Given the description of an element on the screen output the (x, y) to click on. 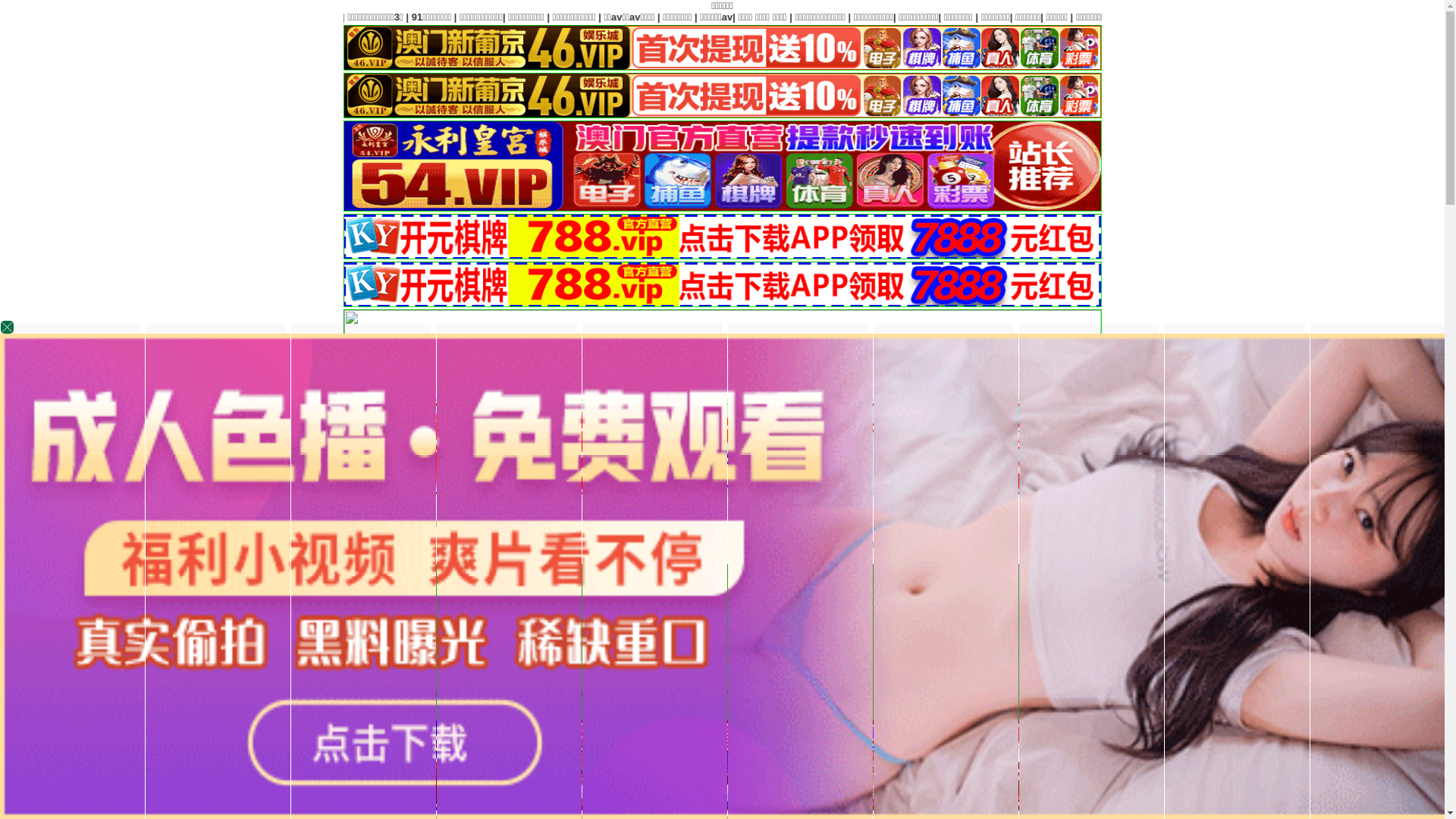
| Element type: text (1049, 16)
www.hehui888.com Element type: text (1144, 523)
| Element type: text (1047, 693)
| Element type: text (1008, 693)
| Element type: text (1323, 16)
| Element type: text (1215, 16)
www.i0534.com Element type: text (870, 523)
| Element type: text (898, 693)
| Element type: text (1370, 16)
www.swszl.com Element type: text (956, 523)
| Element type: text (963, 693)
| Element type: text (1174, 16)
| Element type: text (1089, 16)
| Element type: text (1277, 16)
| Element type: text (1024, 16)
| Element type: text (1087, 693)
| Element type: text (1412, 16)
| Element type: text (923, 693)
www.gxht168.com Element type: text (1045, 523)
| Element type: text (1136, 16)
